Given the description of an element on the screen output the (x, y) to click on. 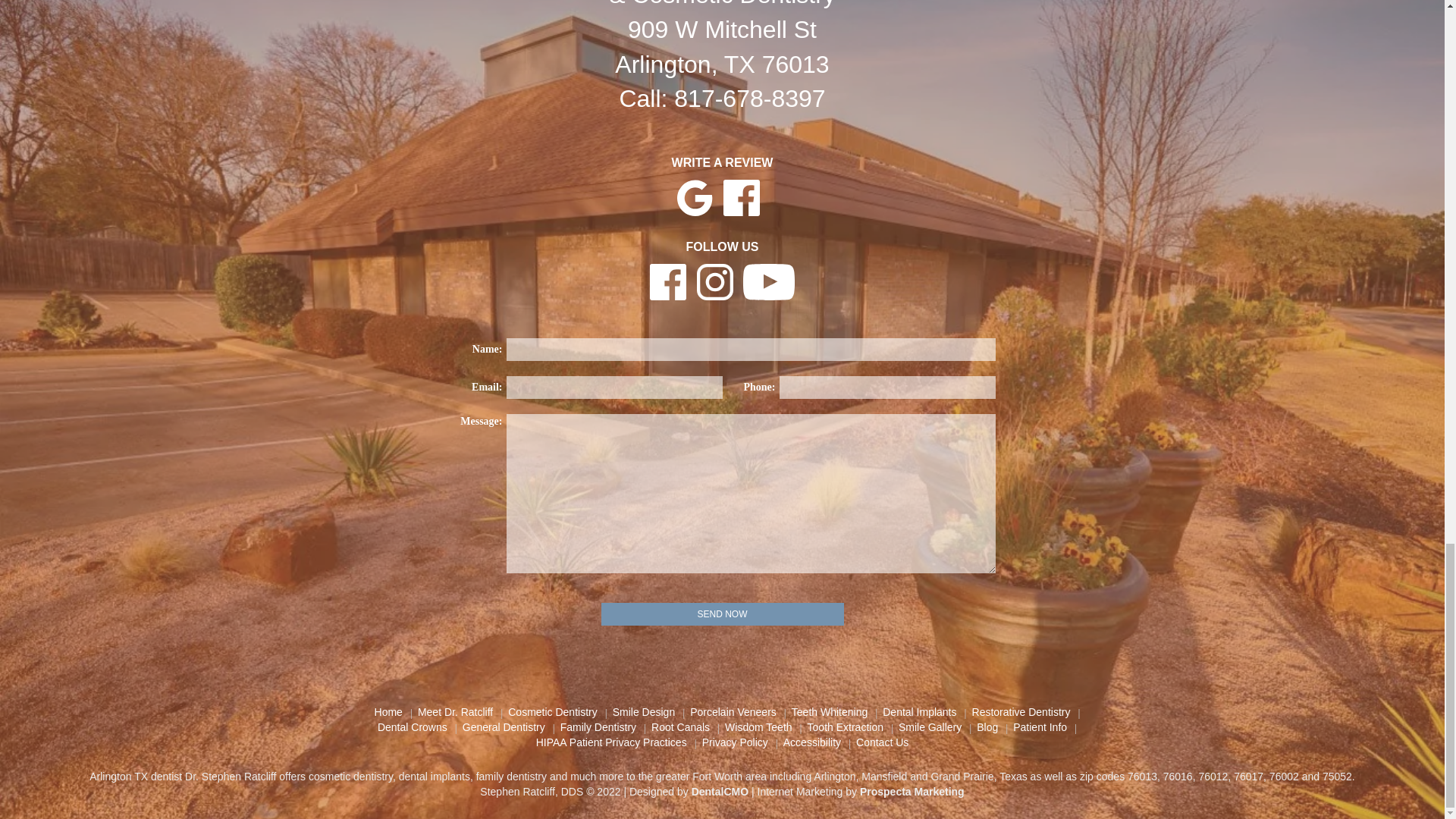
Send Now (721, 613)
